Given the description of an element on the screen output the (x, y) to click on. 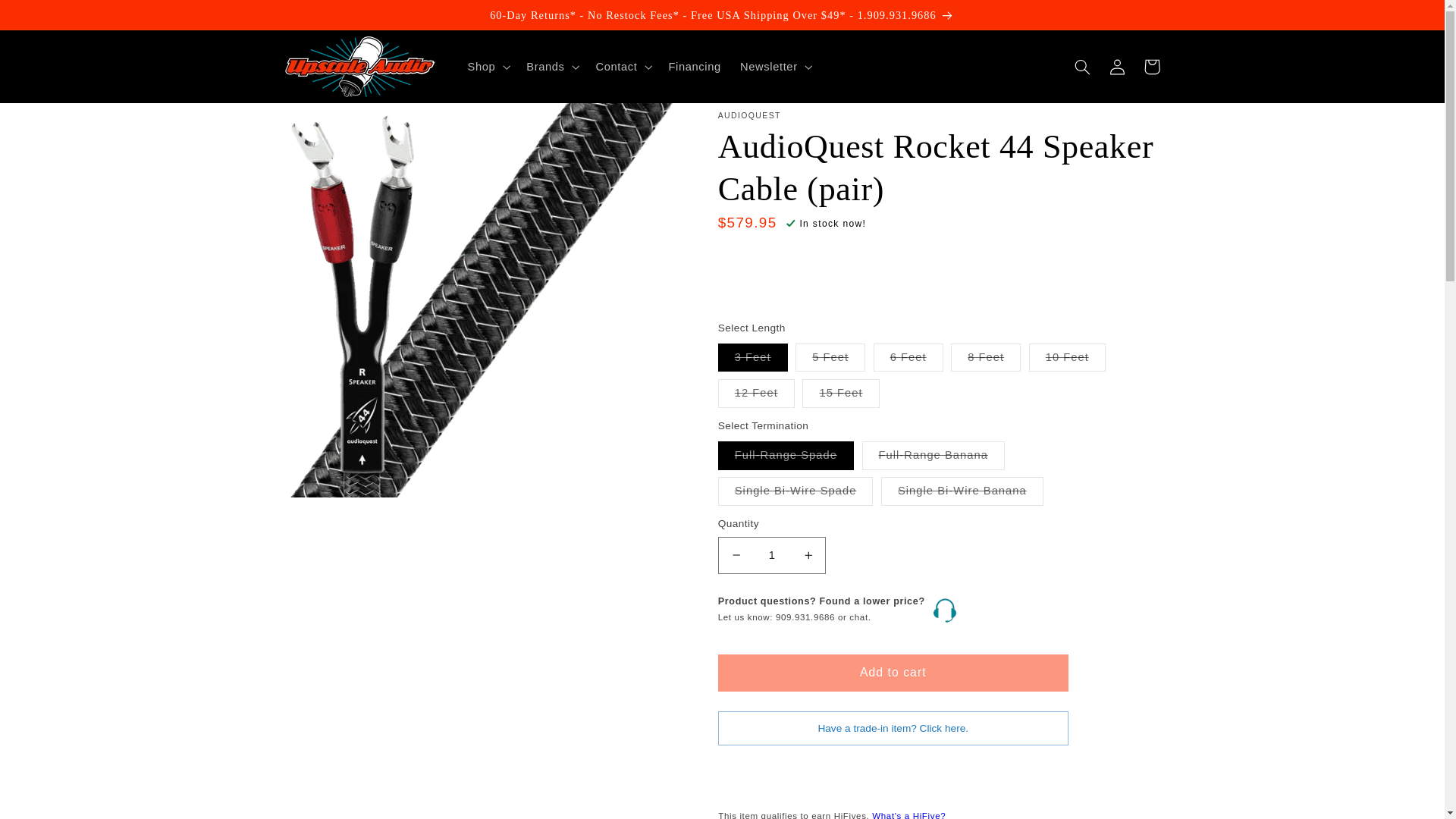
Skip to content (48, 18)
